Given the description of an element on the screen output the (x, y) to click on. 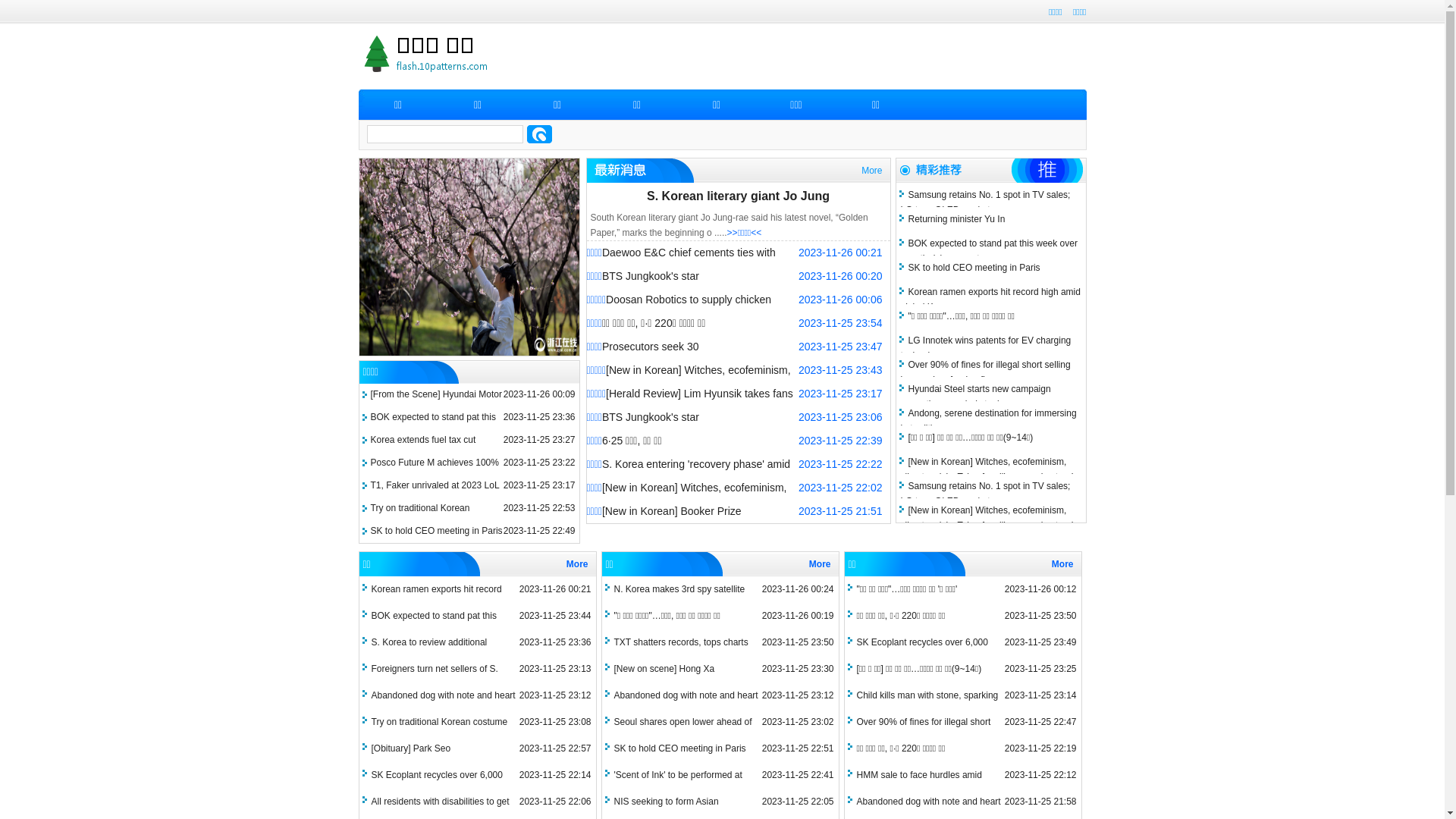
BTS Jungkook's star Element type: text (650, 417)
SK Ecoplant recycles over 6,000 tons of batteries Element type: text (918, 651)
Posco Future M achieves 100% recycling of refractory waste Element type: text (434, 473)
Samsung retains No. 1 spot in TV sales; LG tops OLED market Element type: text (985, 202)
Hyundai Steel starts new campaign promoting recycled steel Element type: text (975, 396)
[Obituary] Park Seo Element type: text (407, 748)
Doosan Robotics to supply chicken Element type: text (688, 299)
Daewoo E&C chief cements ties with Nigerian leaders Element type: text (680, 264)
search Element type: hover (538, 134)
Abandoned dog with note and heart sparks anger Element type: text (682, 704)
Korean ramen exports hit record high amid global K Element type: text (990, 299)
Seoul shares open lower ahead of earnings season Element type: text (679, 730)
BTS Jungkook's star Element type: text (650, 275)
S. Korean literary giant Jo Jung Element type: text (737, 195)
Returning minister Yu In Element type: text (952, 218)
T1, Faker unrivaled at 2023 LoL World Championship Element type: text (434, 495)
More Element type: text (821, 564)
SK to hold CEO meeting in Paris Element type: text (676, 748)
Korea extends fuel tax cut scheme until year's end Element type: text (422, 450)
N. Korea makes 3rd spy satellite launch attempt Element type: text (675, 597)
SK Ecoplant recycles over 6,000 tons of batteries Element type: text (433, 783)
[New on scene] Hong Xa Element type: text (660, 668)
Try on traditional Korean costume during Hanbok Culture Week Element type: text (436, 730)
Try on traditional Korean costume during Hanbok Culture Week Element type: text (447, 518)
[New in Korean] Booker Prize Element type: text (671, 511)
SK to hold CEO meeting in Paris Element type: text (436, 530)
HMM sale to face hurdles amid slowdown in shipping industry Element type: text (915, 783)
More Element type: text (579, 564)
LG Innotek wins patents for EV charging technology Element type: text (985, 347)
Prosecutors seek 30 Element type: text (650, 346)
Samsung retains No. 1 spot in TV sales; LG tops OLED market Element type: text (985, 493)
Abandoned dog with note and heart sparks anger Element type: text (439, 704)
SK to hold CEO meeting in Paris Element type: text (970, 267)
Andong, serene destination for immersing in traditions Element type: text (988, 420)
More Element type: text (875, 170)
More Element type: text (1064, 564)
Korean ramen exports hit record high amid global K Element type: text (433, 597)
TXT shatters records, tops charts with 3rd LP Element type: text (677, 651)
